Given the description of an element on the screen output the (x, y) to click on. 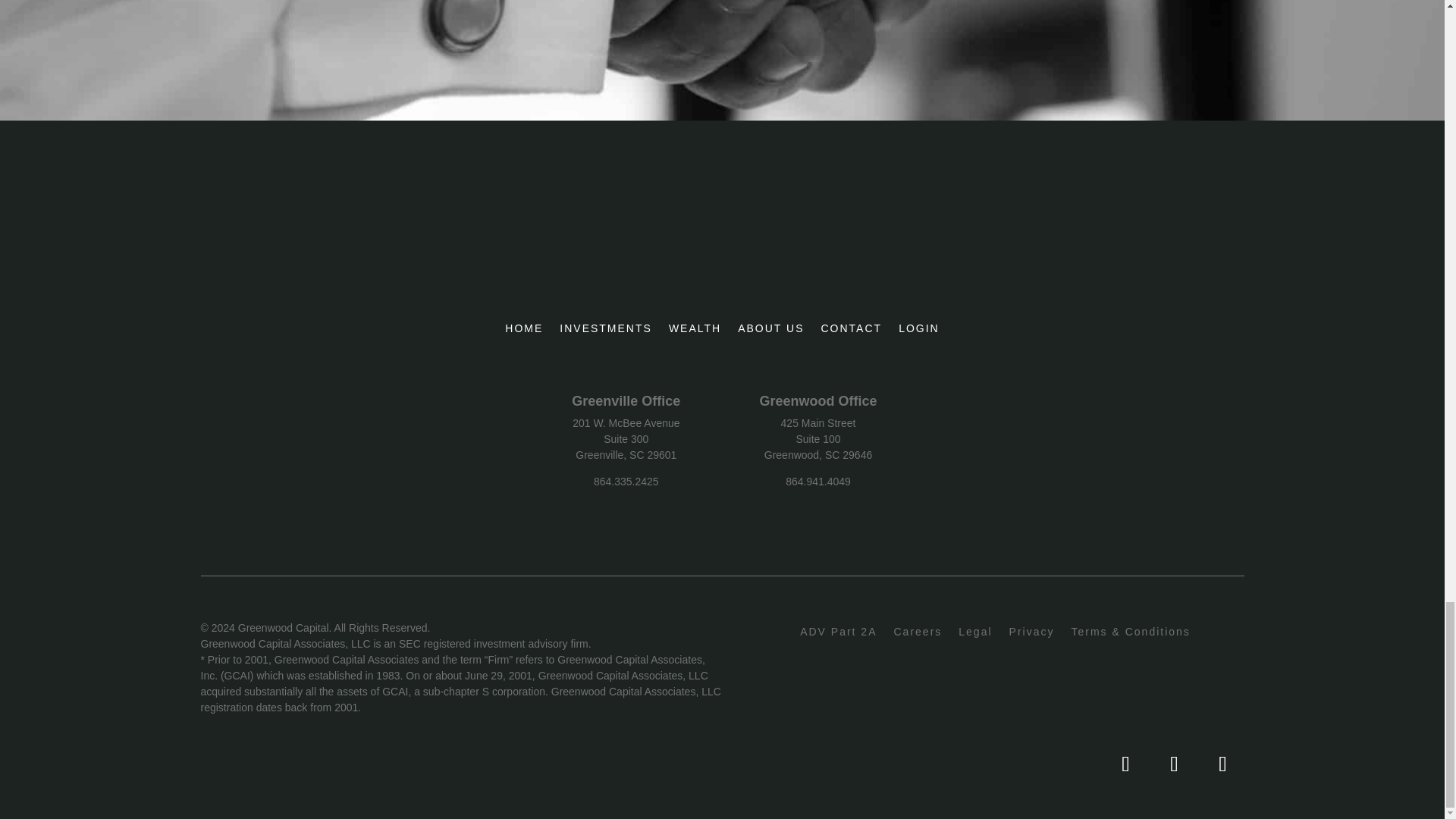
gwc-40-logo-white-hc (738, 258)
Follow on Instagram (1222, 763)
Follow on LinkedIn (1125, 763)
Follow on Facebook (1174, 763)
